Given the description of an element on the screen output the (x, y) to click on. 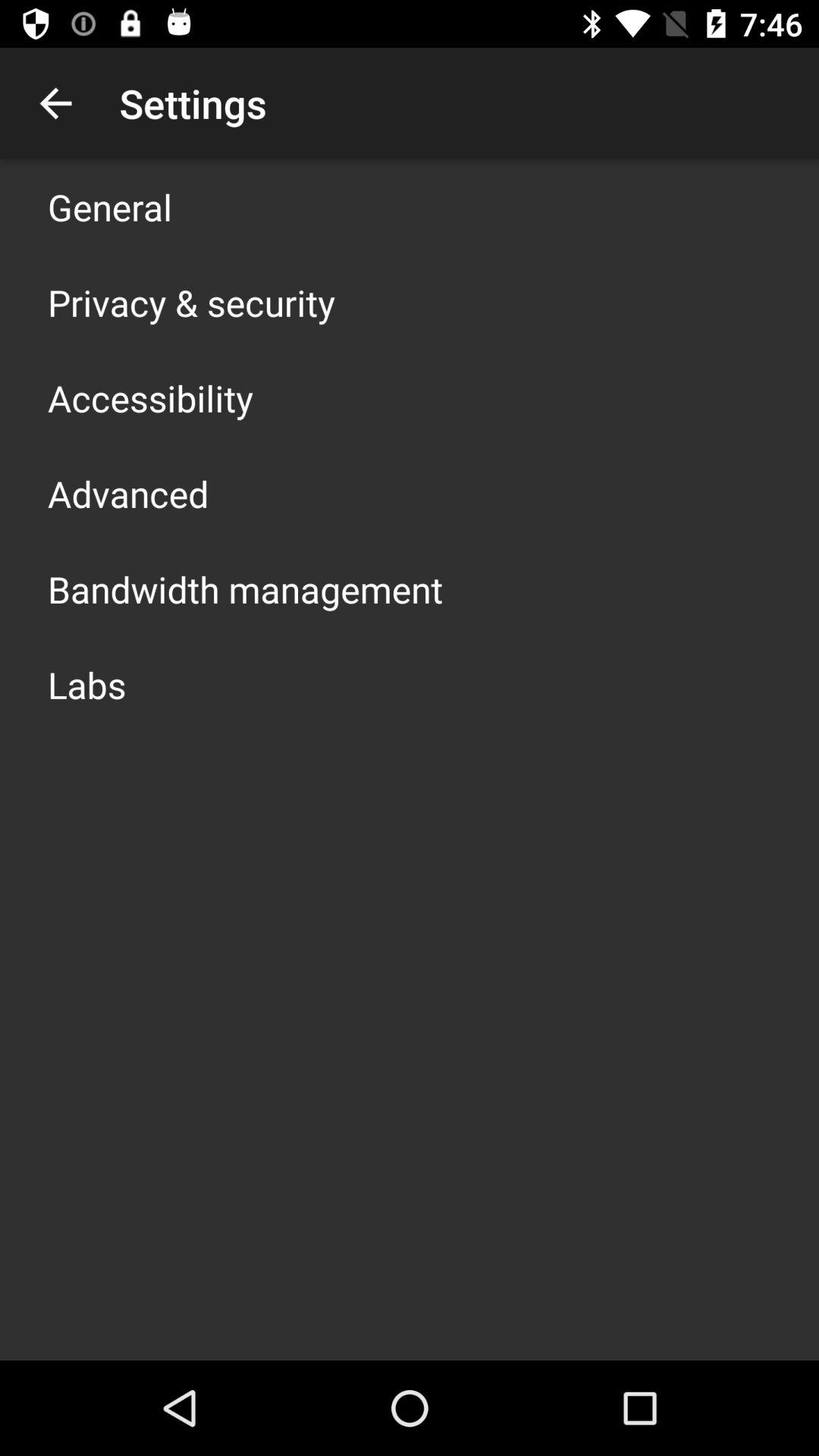
press app next to settings item (55, 103)
